Given the description of an element on the screen output the (x, y) to click on. 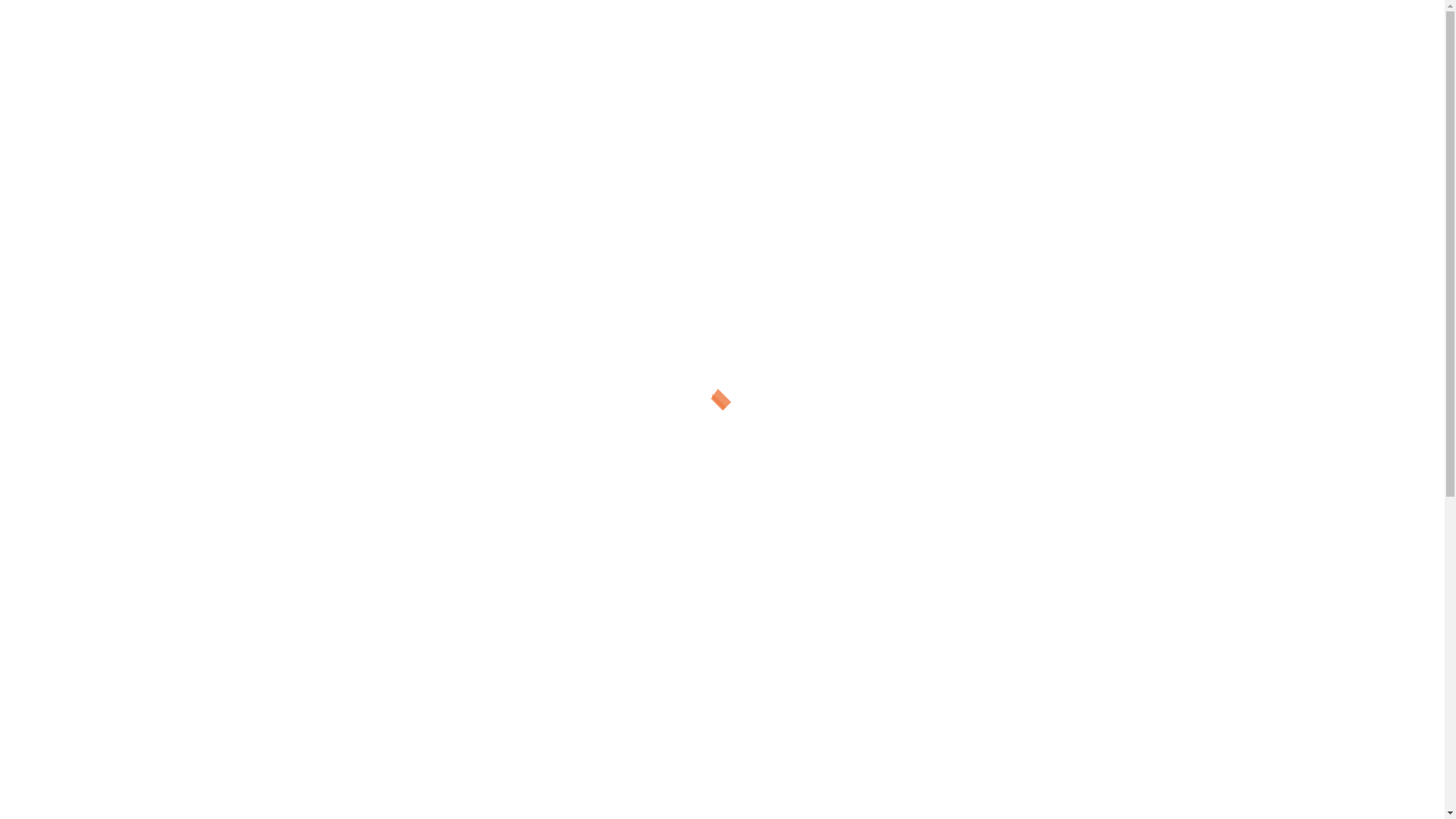
Domino the Jester Element type: text (562, 139)
DOMINO THE JESTER Element type: text (722, 68)
Get in touch Element type: text (899, 139)
Questions? Element type: text (690, 139)
About Me Element type: text (792, 139)
